Given the description of an element on the screen output the (x, y) to click on. 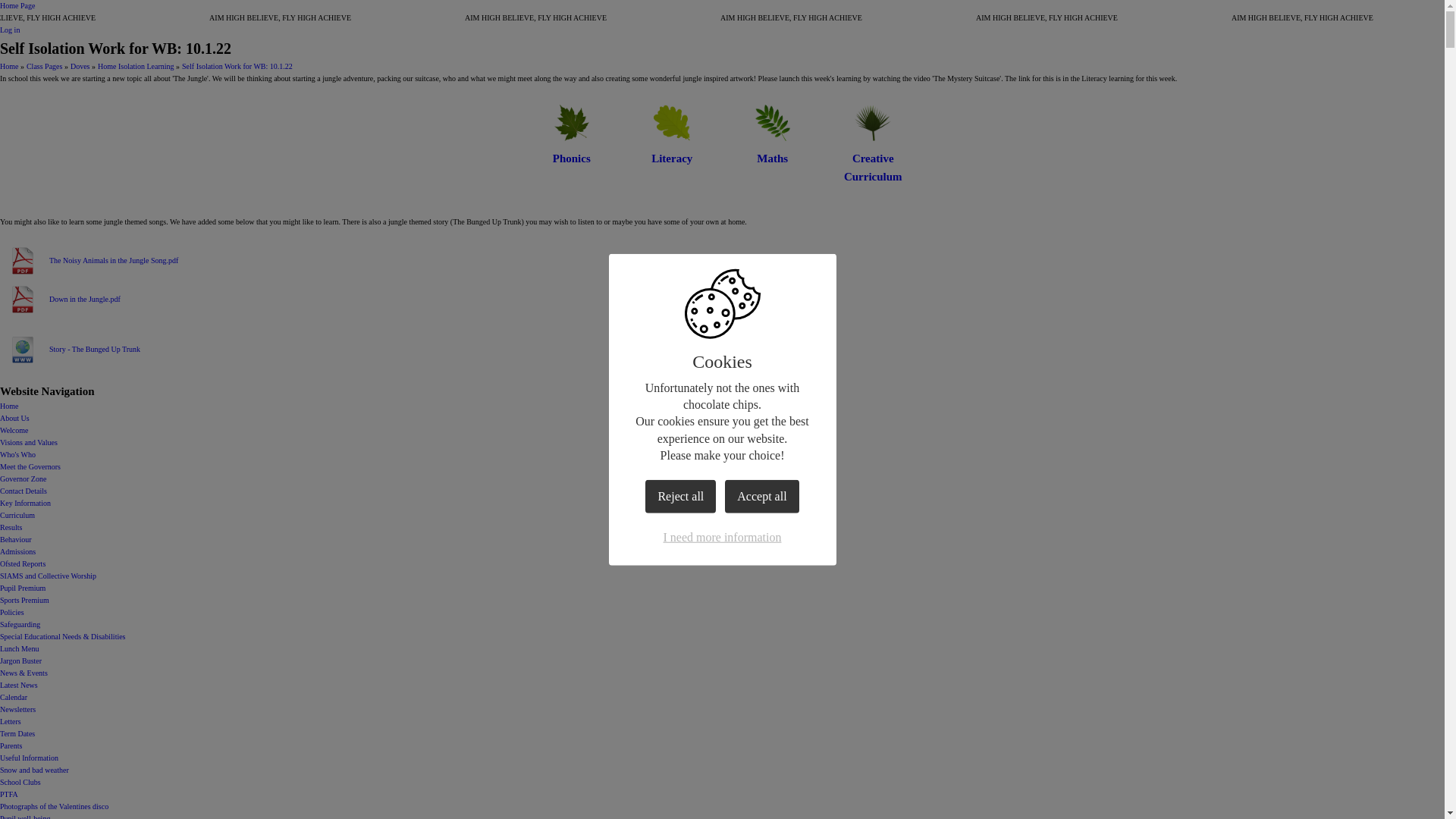
Visions and Values (29, 442)
Key Information (25, 502)
Log in (10, 29)
Calendar (13, 696)
Ofsted Reports (22, 563)
Safeguarding (20, 623)
Admissions (17, 551)
The Noisy Animals in the Jungle Song.pdf (88, 260)
Newsletters (17, 709)
Maths (771, 133)
Governor Zone (23, 479)
Contact Details (23, 490)
Home (8, 406)
Story - The Bunged Up Trunk (69, 349)
Home Isolation Learning (135, 66)
